Given the description of an element on the screen output the (x, y) to click on. 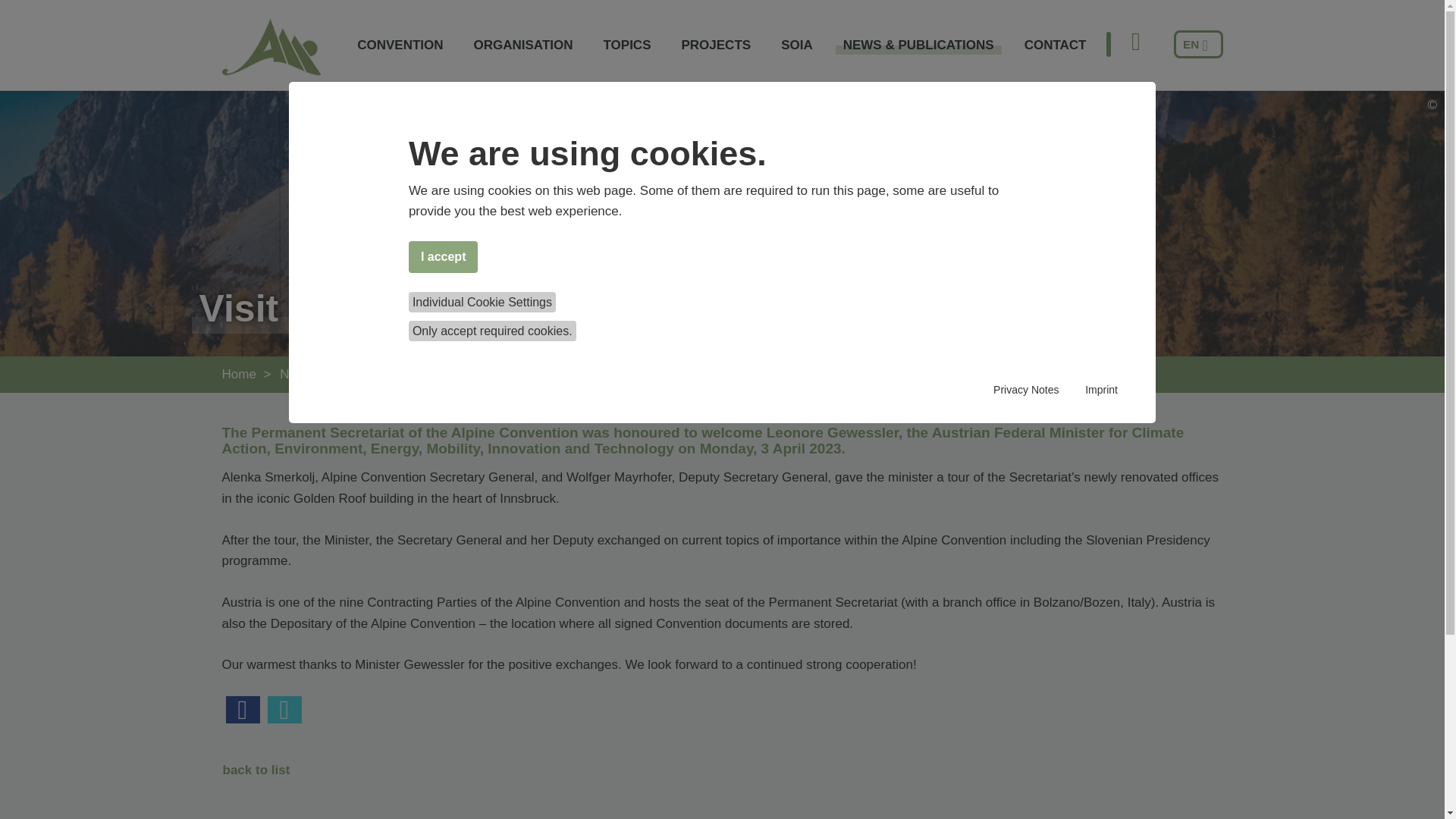
Tweet (283, 709)
Only accept required cookies. (492, 331)
Privacy Notes (1025, 389)
Share on Facebook (242, 709)
Imprint (1101, 389)
Individual Cookie Settings (482, 301)
Home (238, 373)
I accept (444, 256)
News (438, 373)
